Given the description of an element on the screen output the (x, y) to click on. 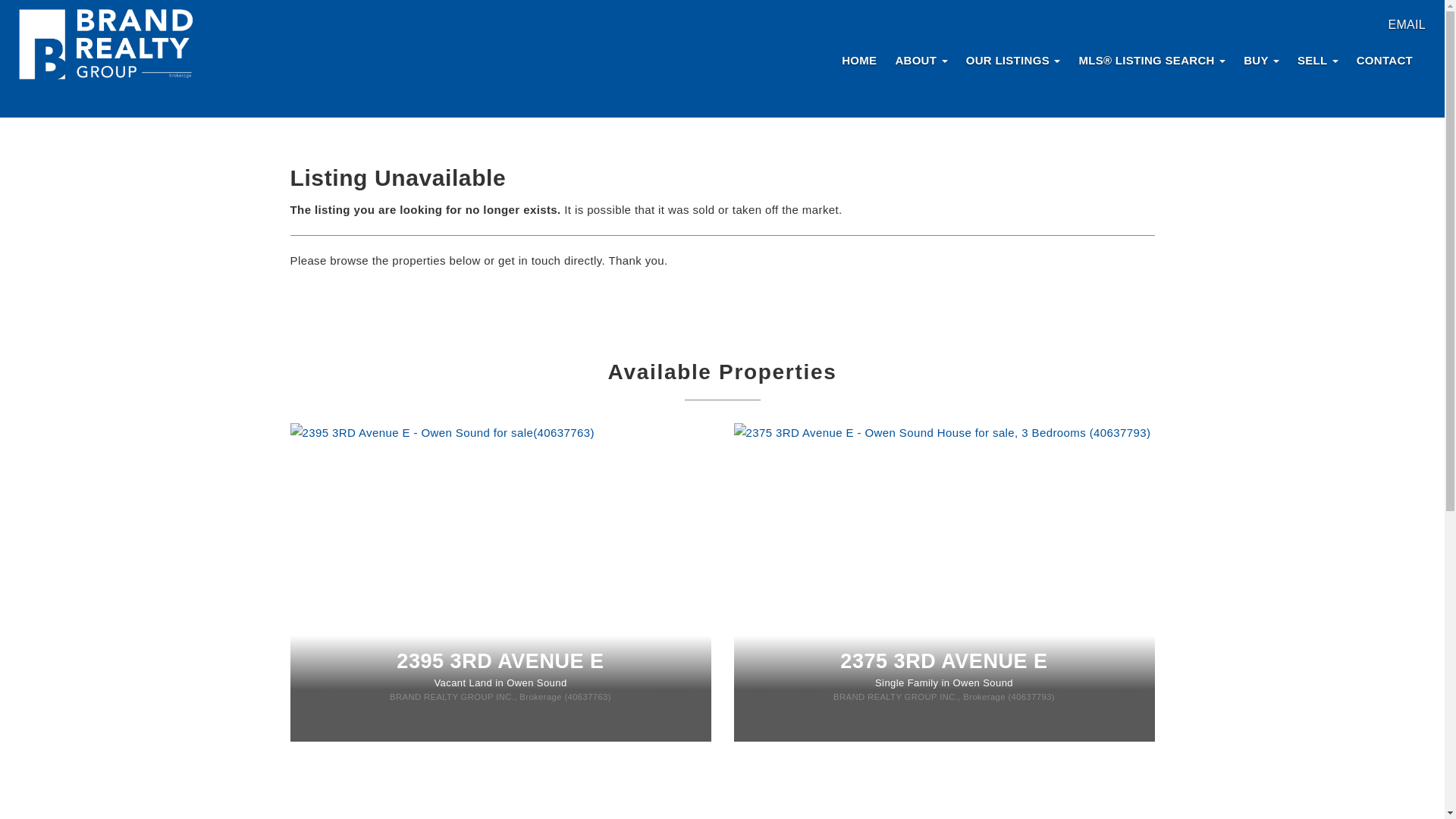
BUY (1261, 59)
OUR LISTINGS (1013, 59)
SELL (1318, 59)
2375 3RD AVENUE E (943, 661)
ABOUT (920, 59)
2395 3RD AVENUE E (500, 661)
HOME (858, 59)
EMAIL (1406, 24)
CONTACT (1385, 59)
wiarton real estate (105, 45)
